Given the description of an element on the screen output the (x, y) to click on. 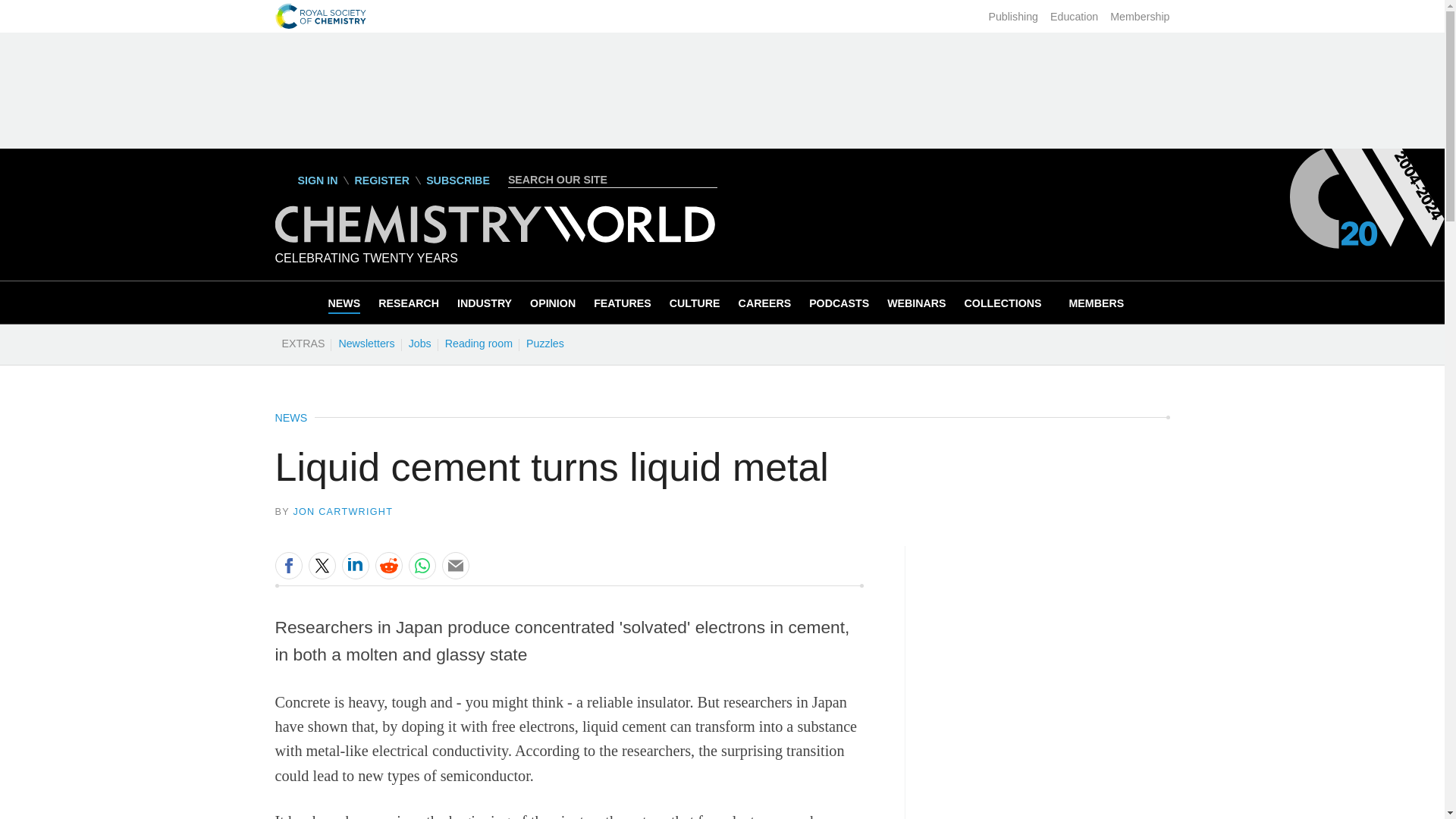
SUBSCRIBE (457, 180)
REGISTER (381, 180)
Education (1073, 16)
Reading room (478, 343)
Chemistry World (494, 238)
Share this on Facebook (288, 565)
Share this on Reddit (387, 565)
Membership (1139, 16)
SIGN IN (306, 180)
Publishing (1013, 16)
Share this on LinkedIn (354, 565)
Puzzles (544, 343)
Newsletters (366, 343)
Jobs (419, 343)
Share this on WhatsApp (421, 565)
